Given the description of an element on the screen output the (x, y) to click on. 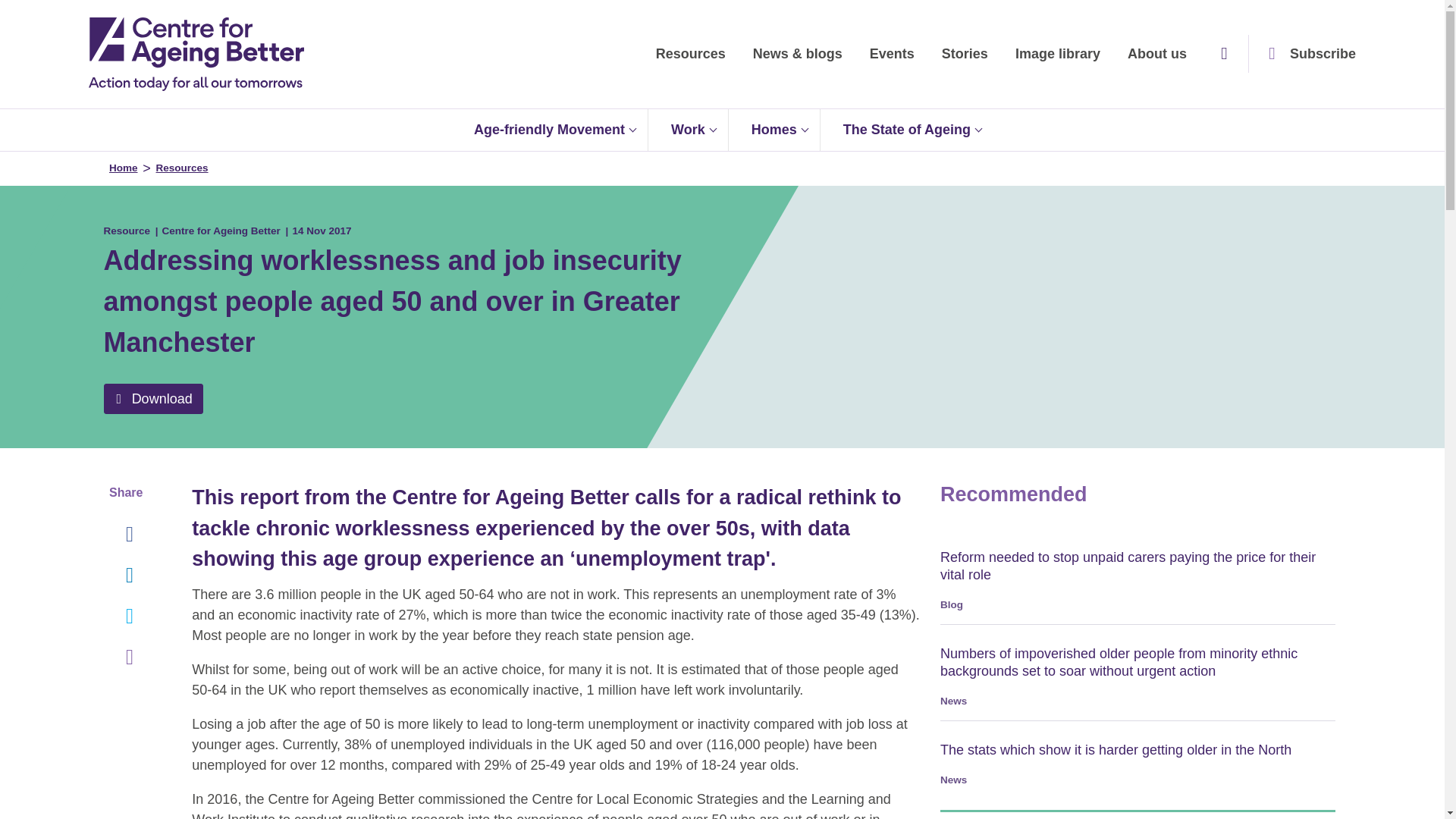
Centre for Ageing Better (196, 54)
Subscribe (1308, 54)
Resources (690, 54)
Subscribe (1308, 54)
Resources (690, 54)
Home (196, 54)
Image library (1057, 54)
Image library (1057, 54)
